Given the description of an element on the screen output the (x, y) to click on. 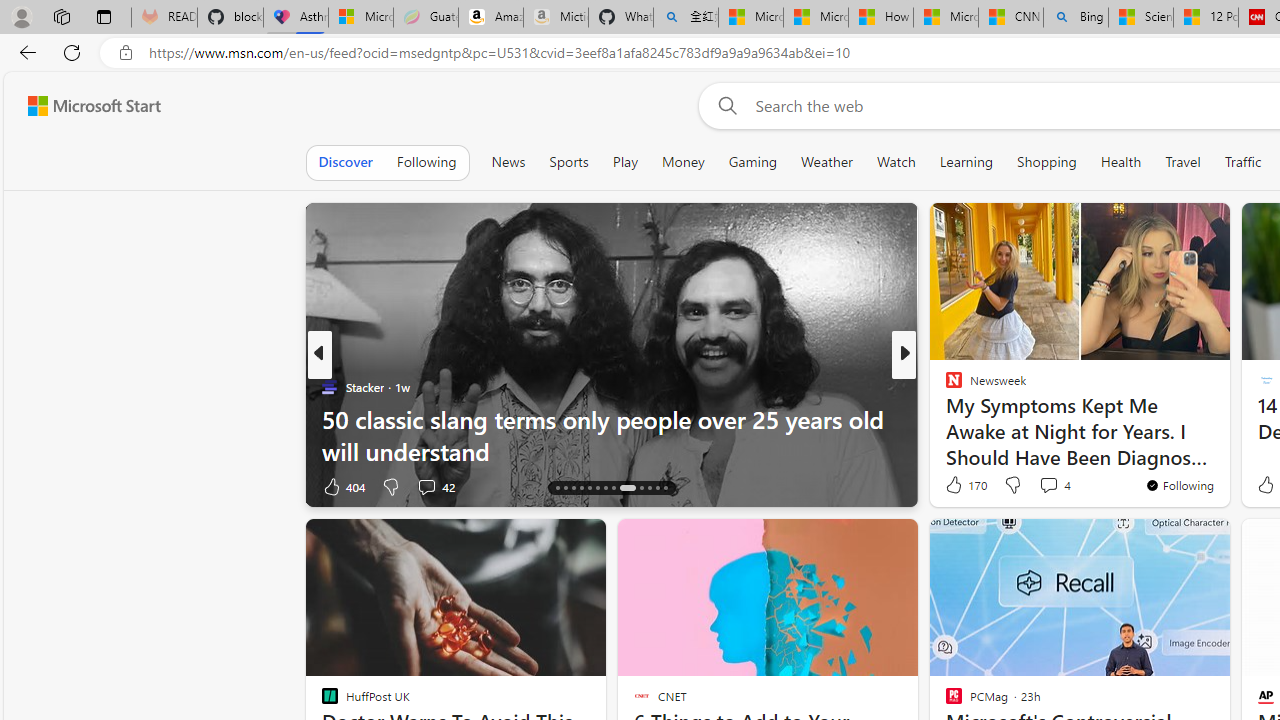
You're following FOX News (253, 490)
View comments 231 Comment (1048, 486)
3k Like (955, 486)
View comments 231 Comment (1035, 485)
Popular Mechanics (944, 386)
